Given the description of an element on the screen output the (x, y) to click on. 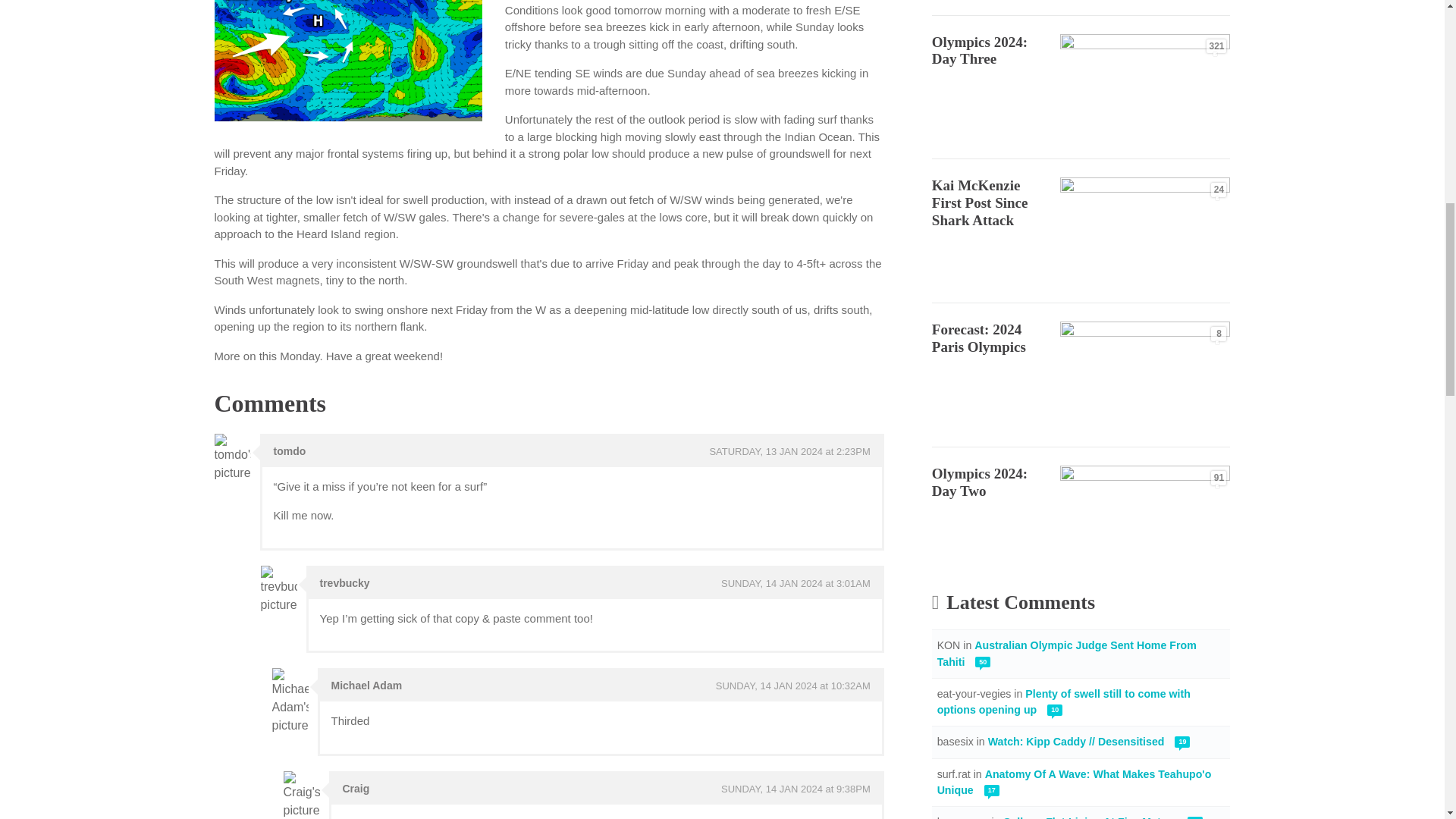
tomdo's picture (232, 458)
Craig's picture (301, 795)
trevbucky's picture (278, 589)
Comments (270, 402)
Michael Adam's picture (288, 701)
